Given the description of an element on the screen output the (x, y) to click on. 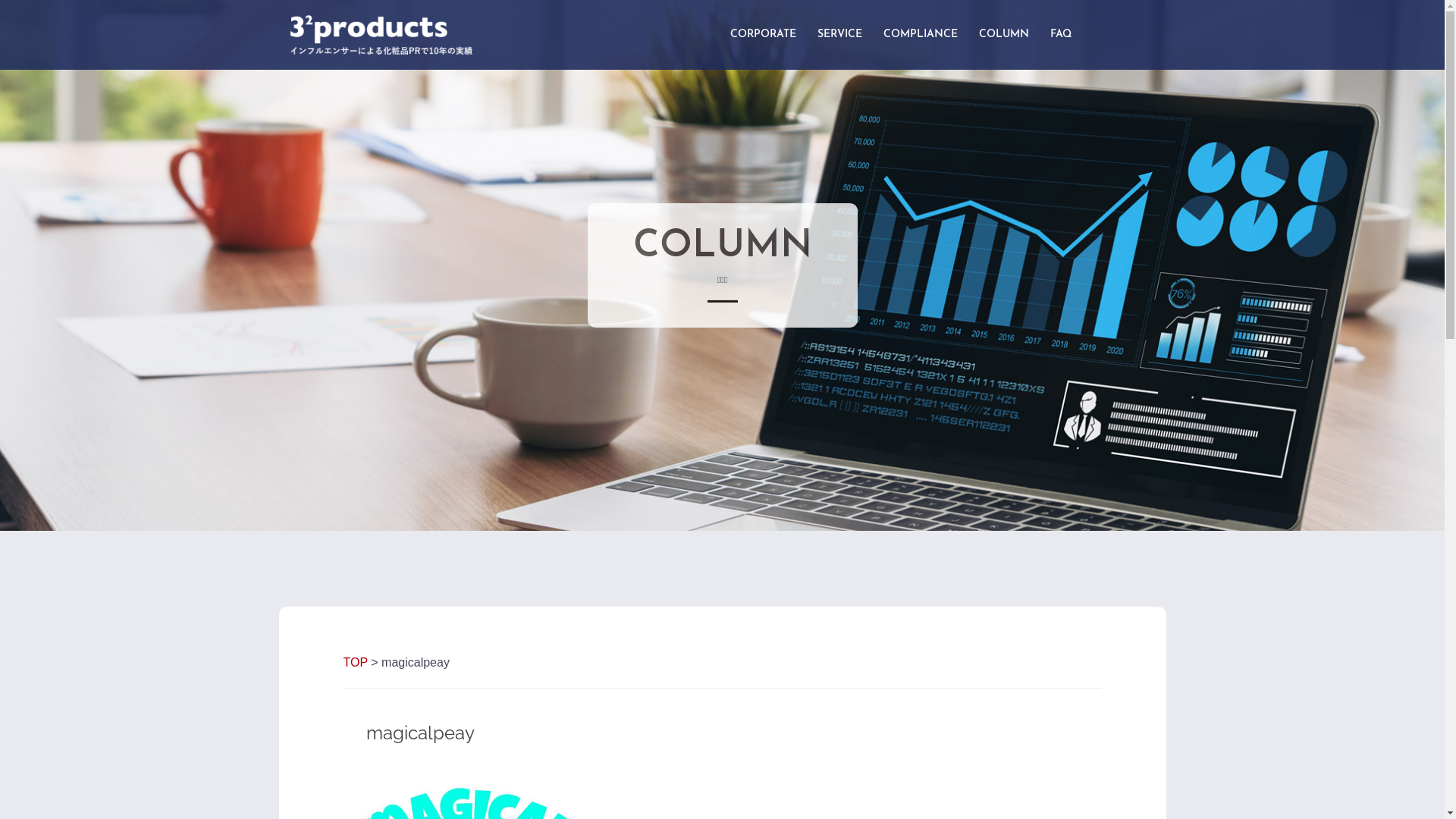
FAQ Element type: text (1059, 34)
SERVICE Element type: text (839, 34)
TOP Element type: text (354, 661)
COMPLIANCE Element type: text (919, 34)
COLUMN Element type: text (1003, 34)
CORPORATE Element type: text (762, 34)
